Given the description of an element on the screen output the (x, y) to click on. 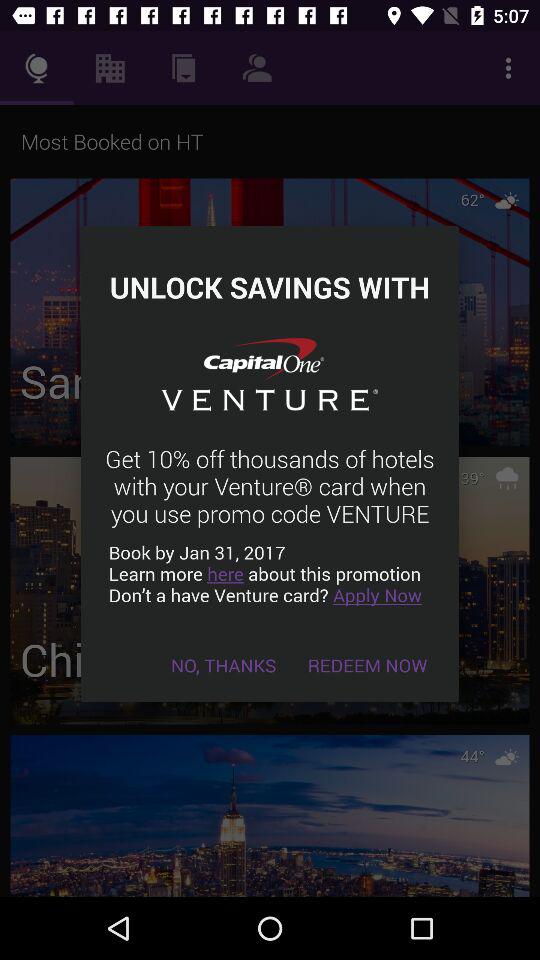
select the icon below book by jan item (223, 664)
